Given the description of an element on the screen output the (x, y) to click on. 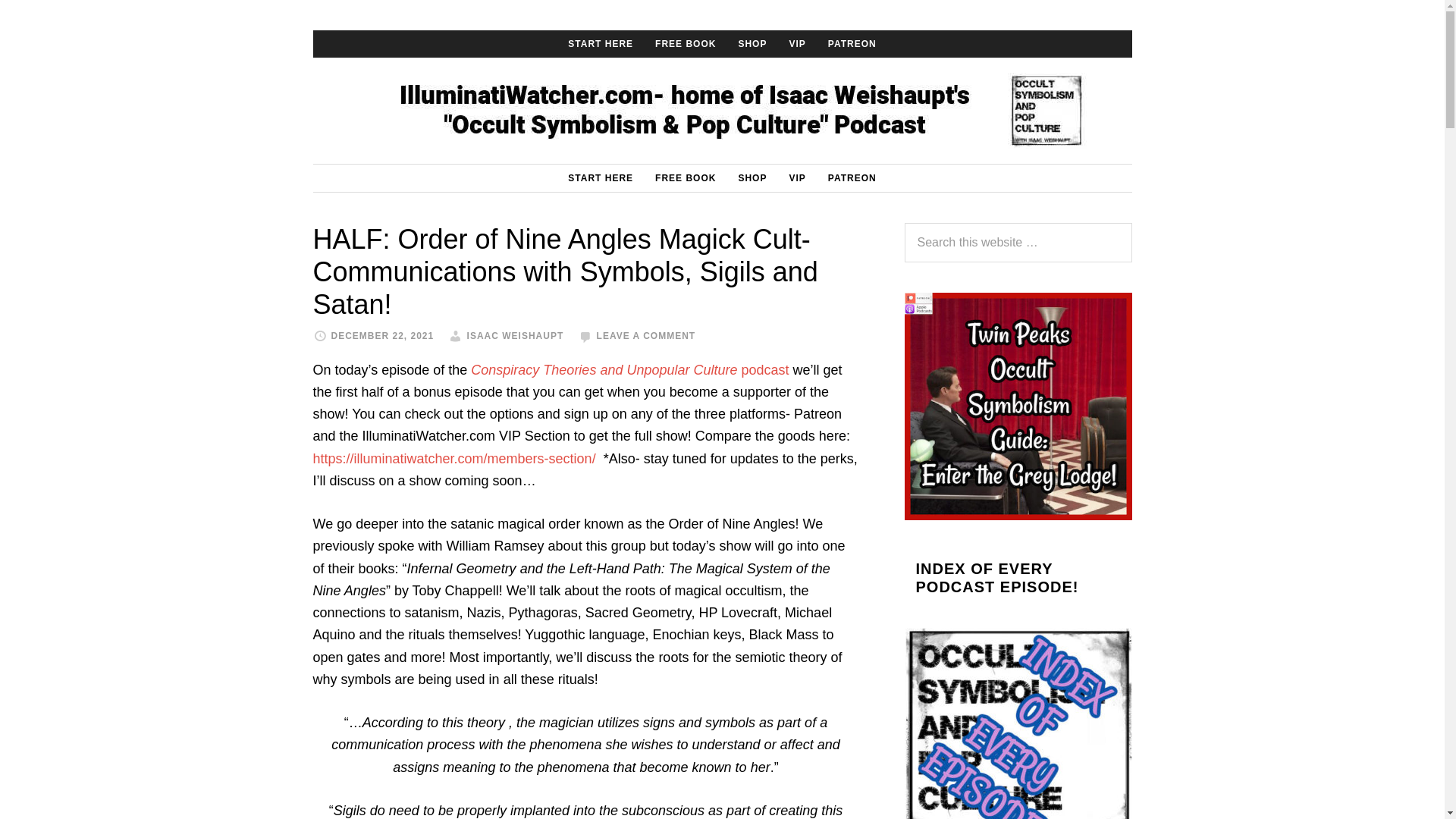
START HERE (600, 43)
ILLUMINATIWATCHER (722, 110)
SHOP (752, 43)
START HERE (600, 177)
FREE BOOK (685, 177)
VIP (795, 177)
SHOP (752, 177)
LEAVE A COMMENT (645, 335)
VIP (795, 43)
PATREON (851, 177)
ISAAC WEISHAUPT (515, 335)
FREE BOOK (685, 43)
PATREON (851, 43)
Conspiracy Theories and Unpopular Culture podcast (629, 369)
